Given the description of an element on the screen output the (x, y) to click on. 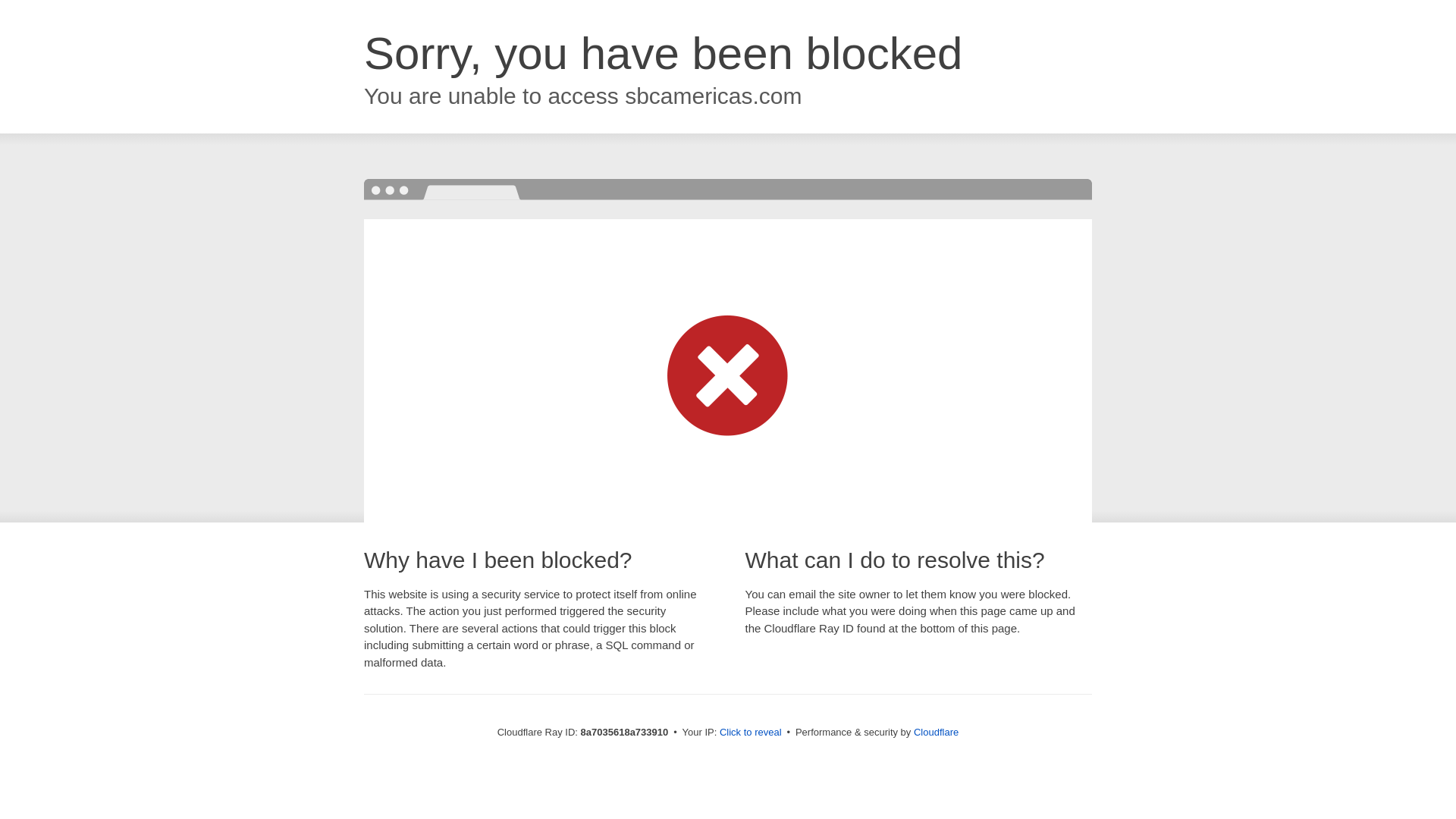
Cloudflare (936, 731)
Click to reveal (750, 732)
